Given the description of an element on the screen output the (x, y) to click on. 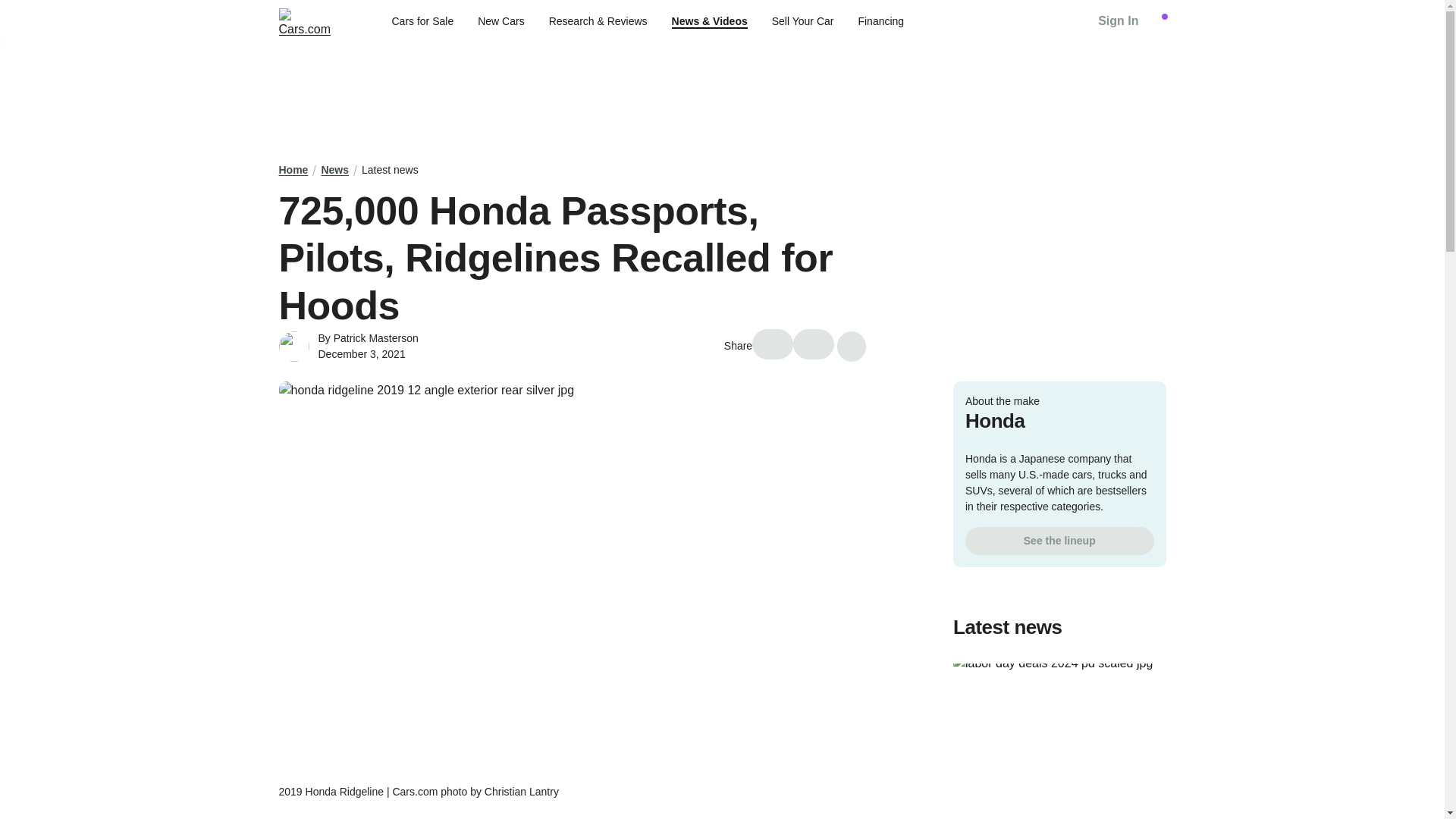
Financing (880, 21)
Home (293, 170)
Cars for Sale (421, 21)
Skip to main content (12, 11)
New Cars (500, 21)
News (334, 170)
Sell Your Car (802, 21)
